Given the description of an element on the screen output the (x, y) to click on. 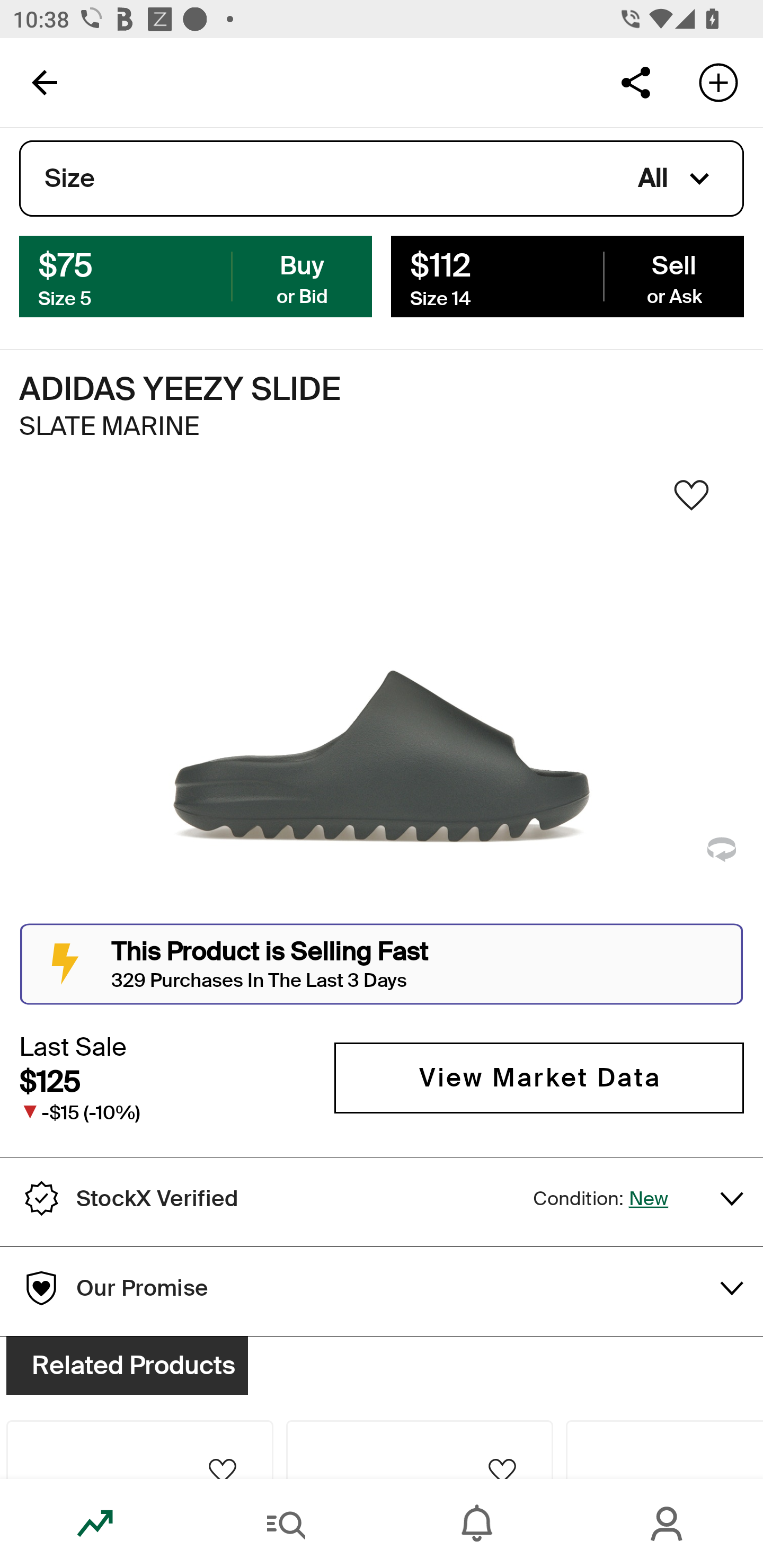
Share (635, 81)
Add (718, 81)
Size All (381, 178)
$82 Buy Size 4 or Bid (195, 275)
$122 Sell Size 15 or Ask (566, 275)
Sneaker Image (381, 699)
View Market Data (538, 1077)
Product Image (139, 1401)
Search (285, 1523)
Inbox (476, 1523)
Account (667, 1523)
